Given the description of an element on the screen output the (x, y) to click on. 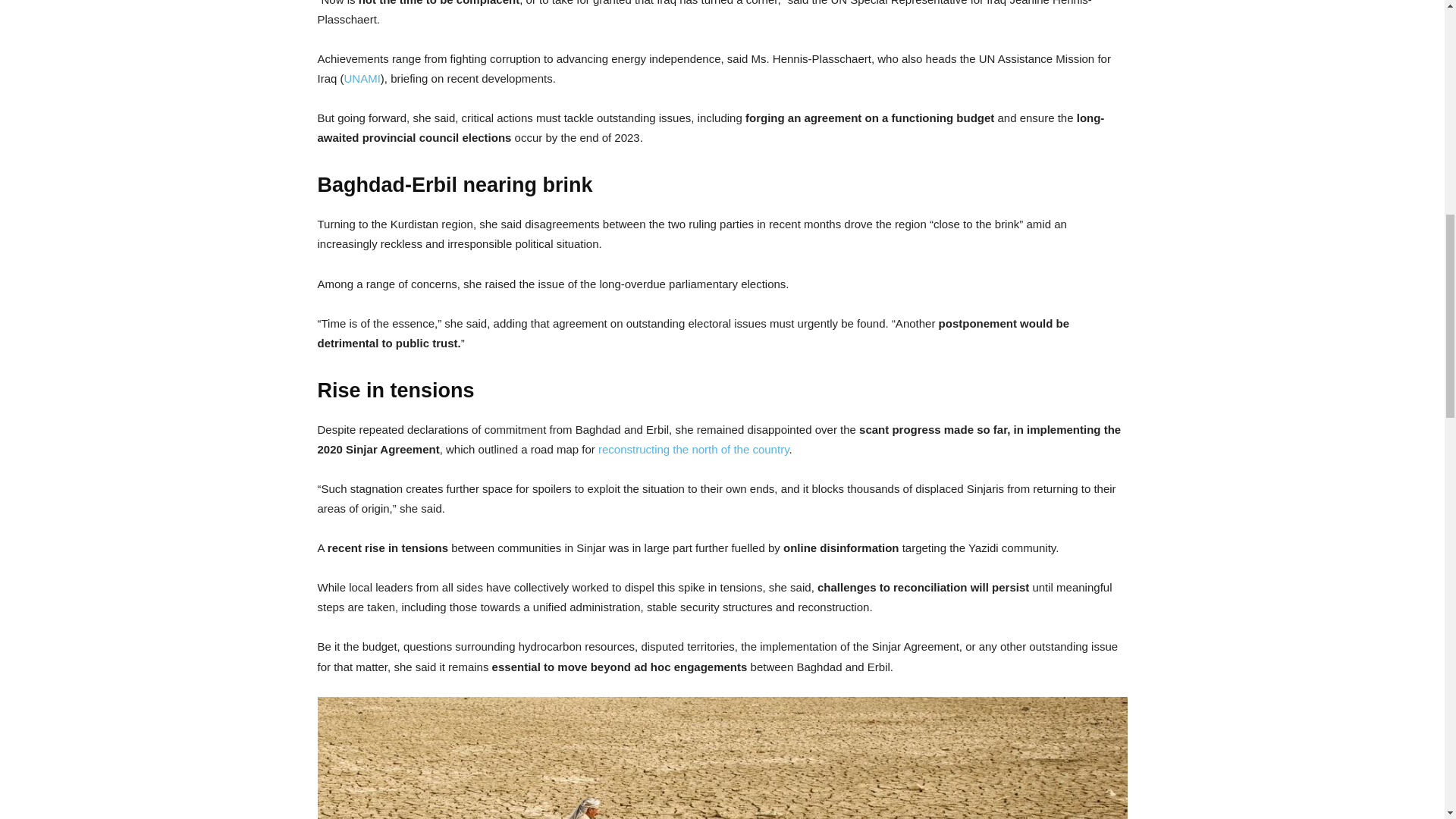
UNAMI (361, 78)
reconstructing the north of the country (693, 449)
